Given the description of an element on the screen output the (x, y) to click on. 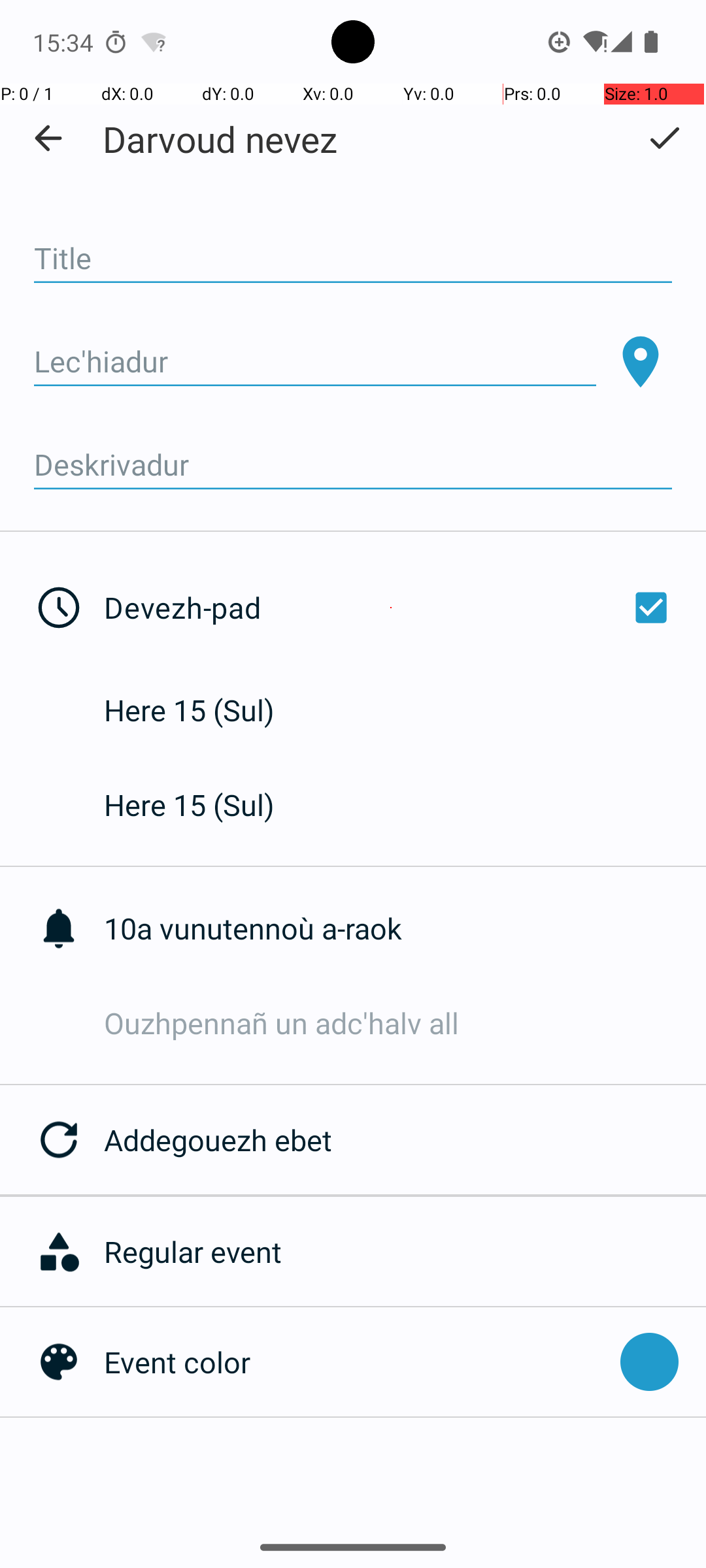
Darvoud nevez Element type: android.widget.TextView (219, 138)
Lec'hiadur Element type: android.widget.EditText (314, 361)
Deskrivadur Element type: android.widget.EditText (352, 465)
Here 15 (Sul) Element type: android.widget.TextView (202, 709)
10a vunutennoù a-raok Element type: android.widget.TextView (404, 927)
Ouzhpennañ un adc'halv all Element type: android.widget.TextView (404, 1022)
Addegouezh ebet Element type: android.widget.TextView (404, 1139)
Devezh-pad Element type: android.widget.CheckBox (390, 607)
